Given the description of an element on the screen output the (x, y) to click on. 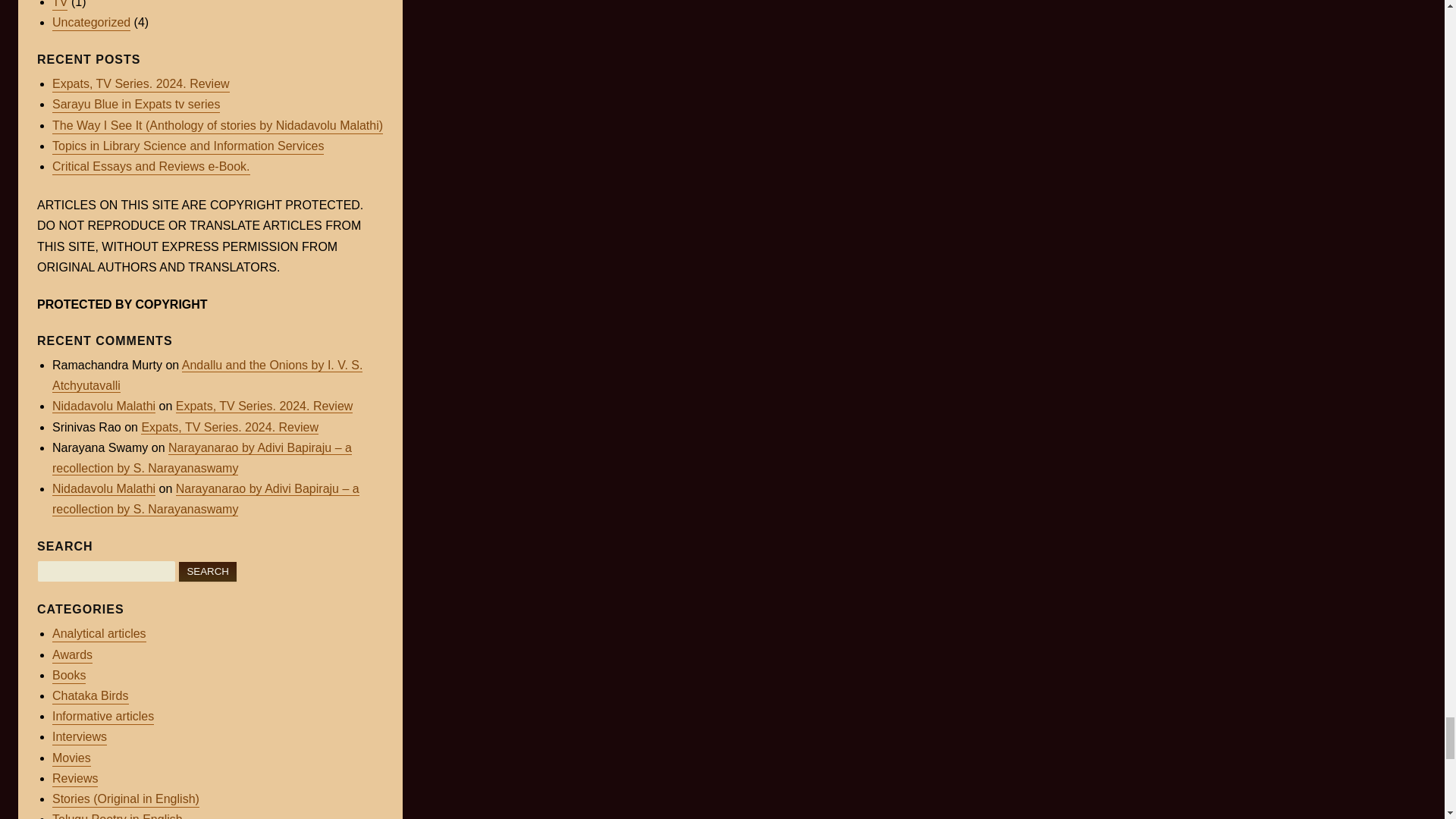
Search (207, 570)
TV (59, 5)
Expats, TV Series. 2024. Review (141, 84)
Uncategorized (91, 23)
